Given the description of an element on the screen output the (x, y) to click on. 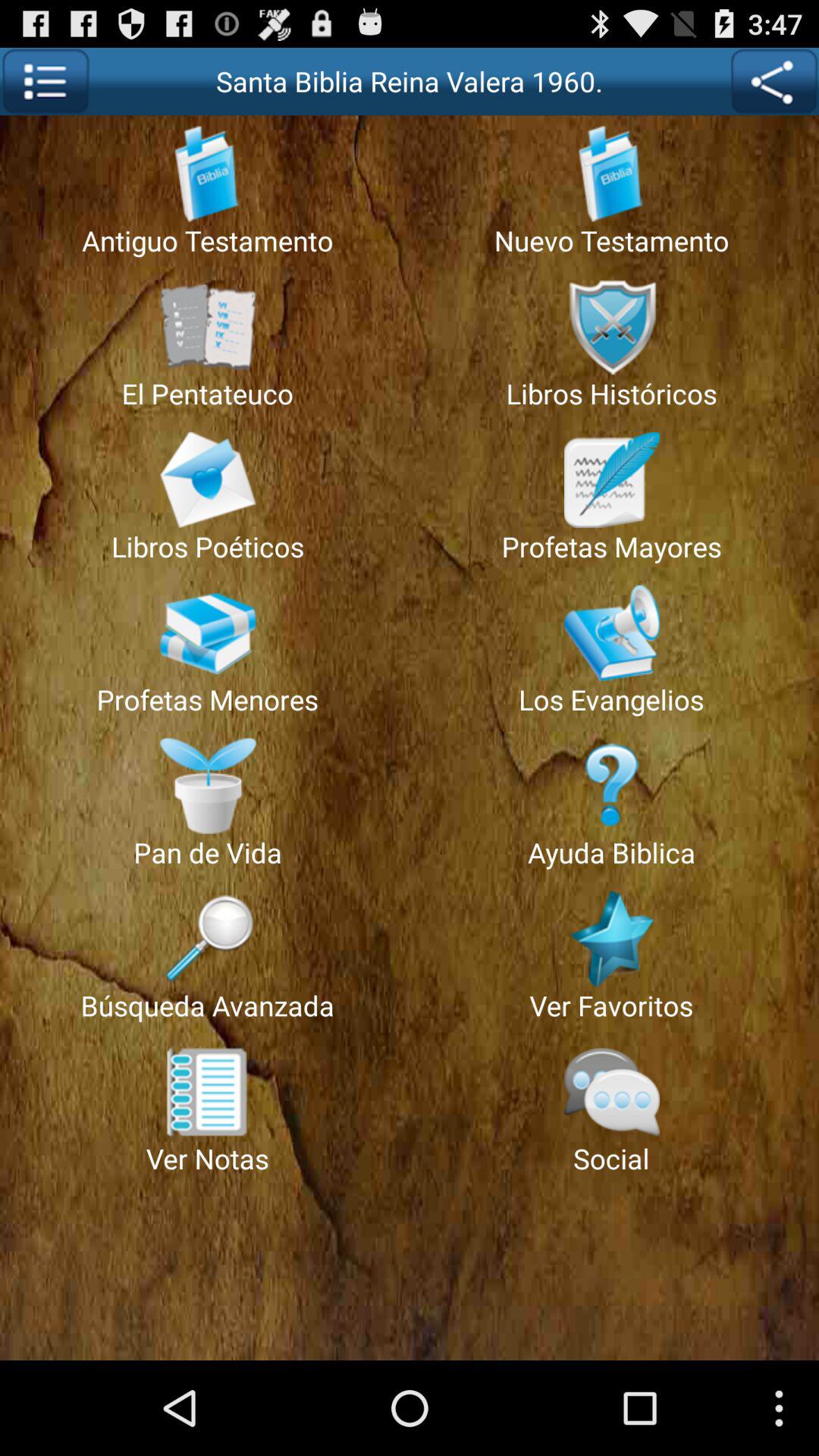
share on social media (773, 81)
